Given the description of an element on the screen output the (x, y) to click on. 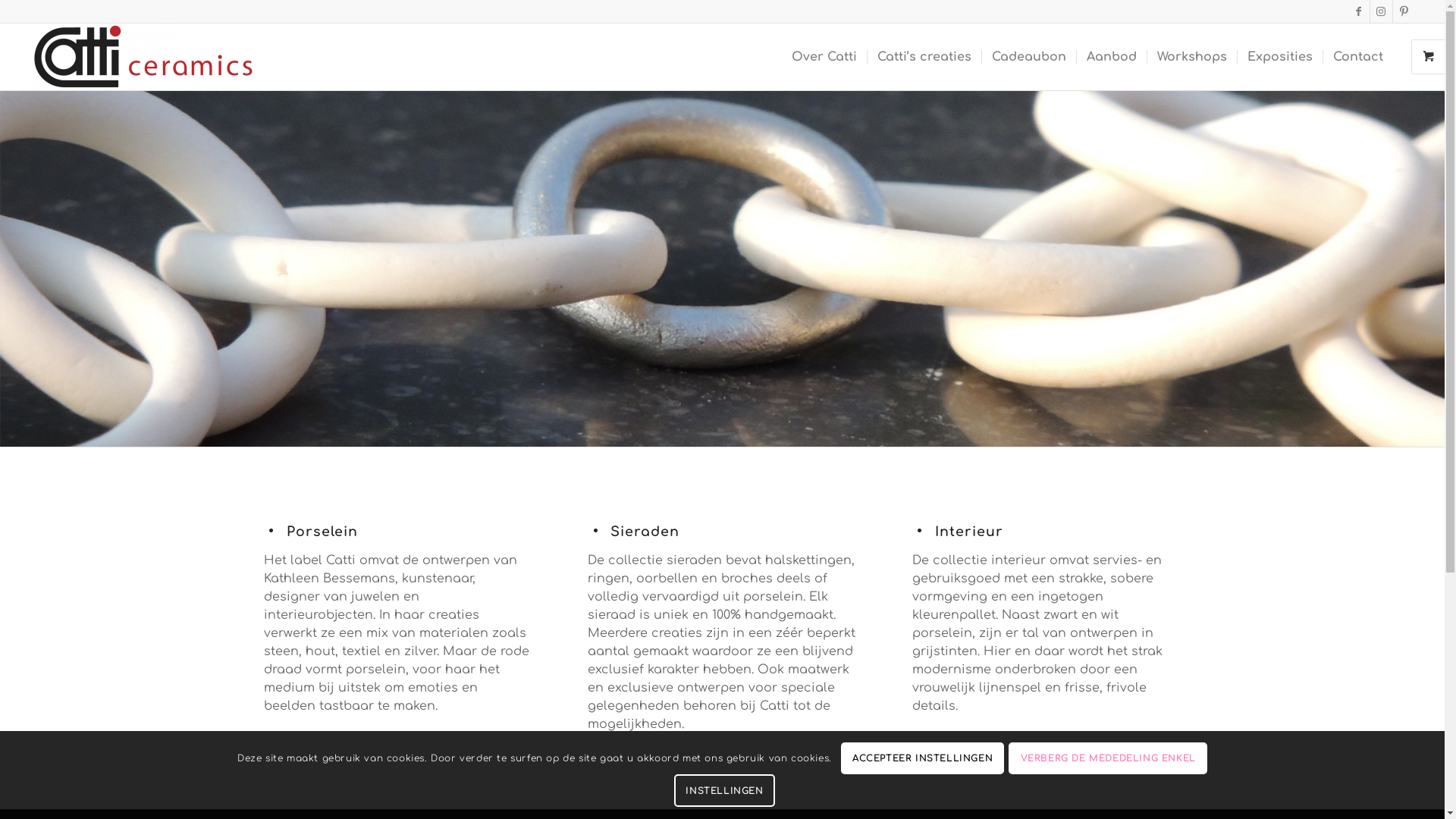
Instagram Element type: hover (1381, 11)
Contact Element type: text (1357, 56)
Aanbod Element type: text (1111, 56)
VERBERG DE MEDEDELING ENKEL Element type: text (1107, 759)
Workshops Element type: text (1191, 56)
Over Catti Element type: text (823, 56)
Pinterest Element type: hover (1404, 11)
Exposities Element type: text (1279, 56)
ACCEPTEER INSTELLINGEN Element type: text (922, 759)
Cadeaubon Element type: text (1028, 56)
INSTELLINGEN Element type: text (724, 790)
Facebook Element type: hover (1358, 11)
